Given the description of an element on the screen output the (x, y) to click on. 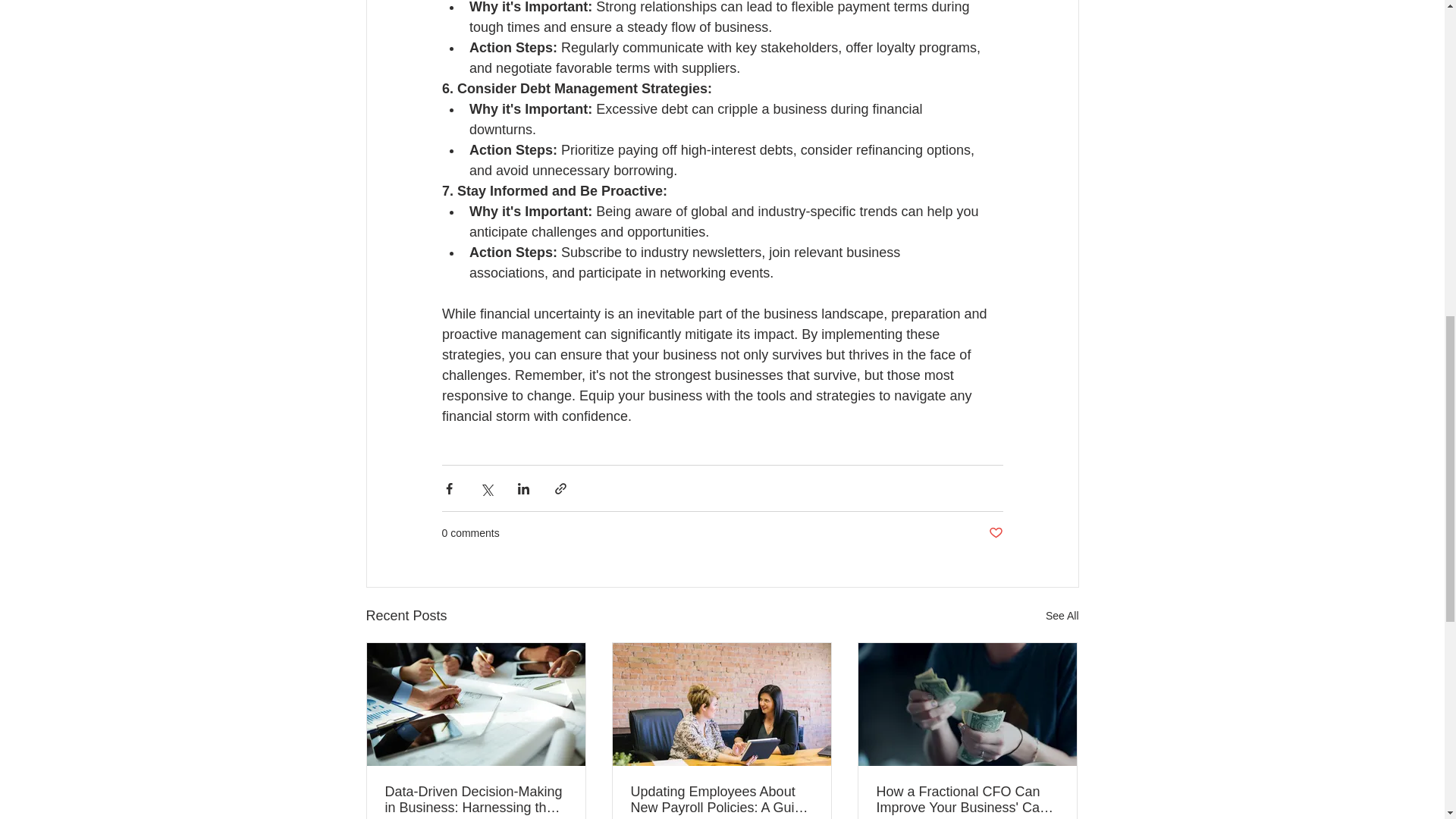
Post not marked as liked (995, 533)
See All (1061, 616)
